Given the description of an element on the screen output the (x, y) to click on. 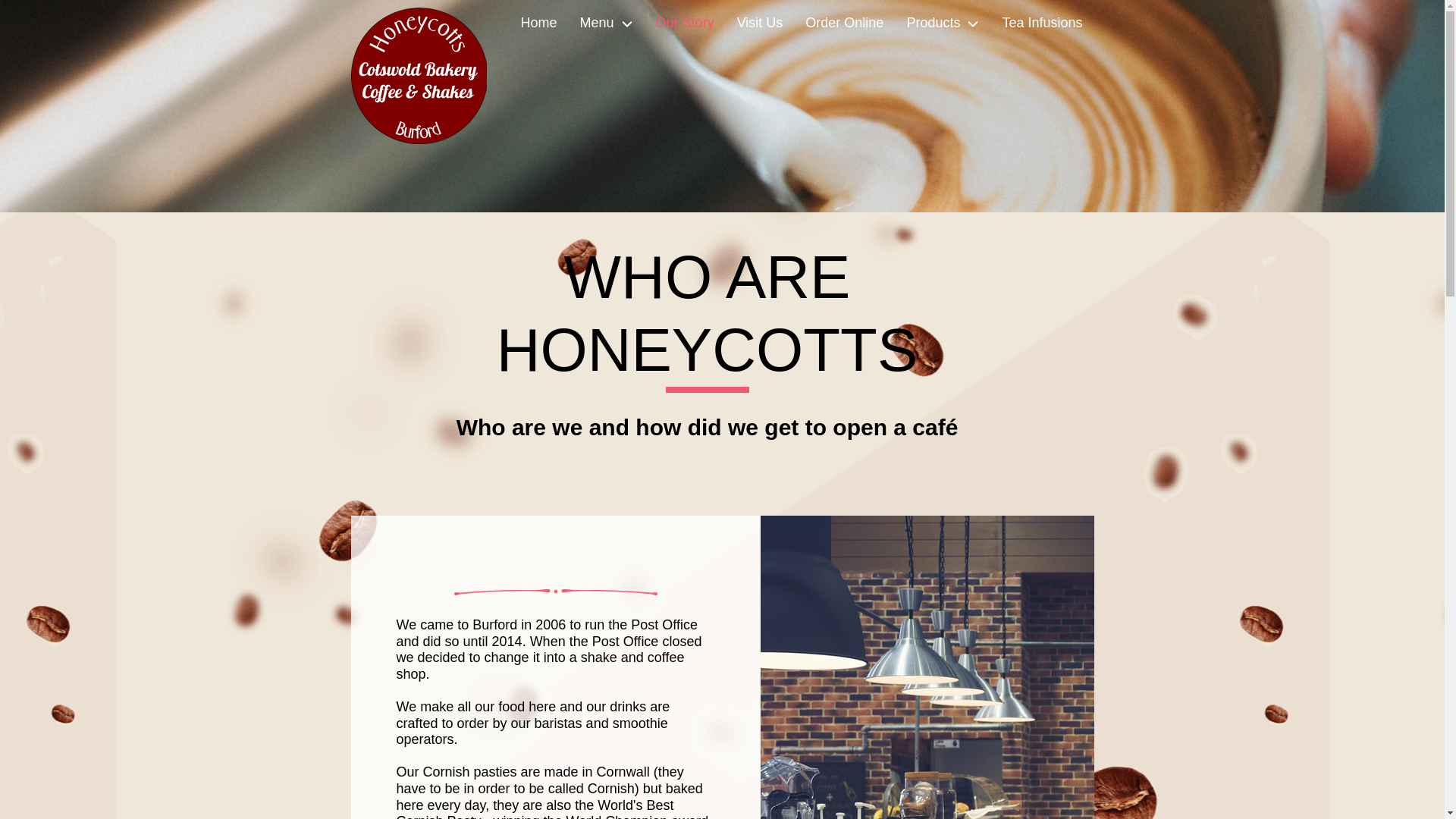
Our Story (685, 23)
Visit Us (759, 23)
Menu (607, 23)
Tea Infusions (1041, 23)
Order Online (844, 23)
Products (942, 23)
Home (539, 23)
